Given the description of an element on the screen output the (x, y) to click on. 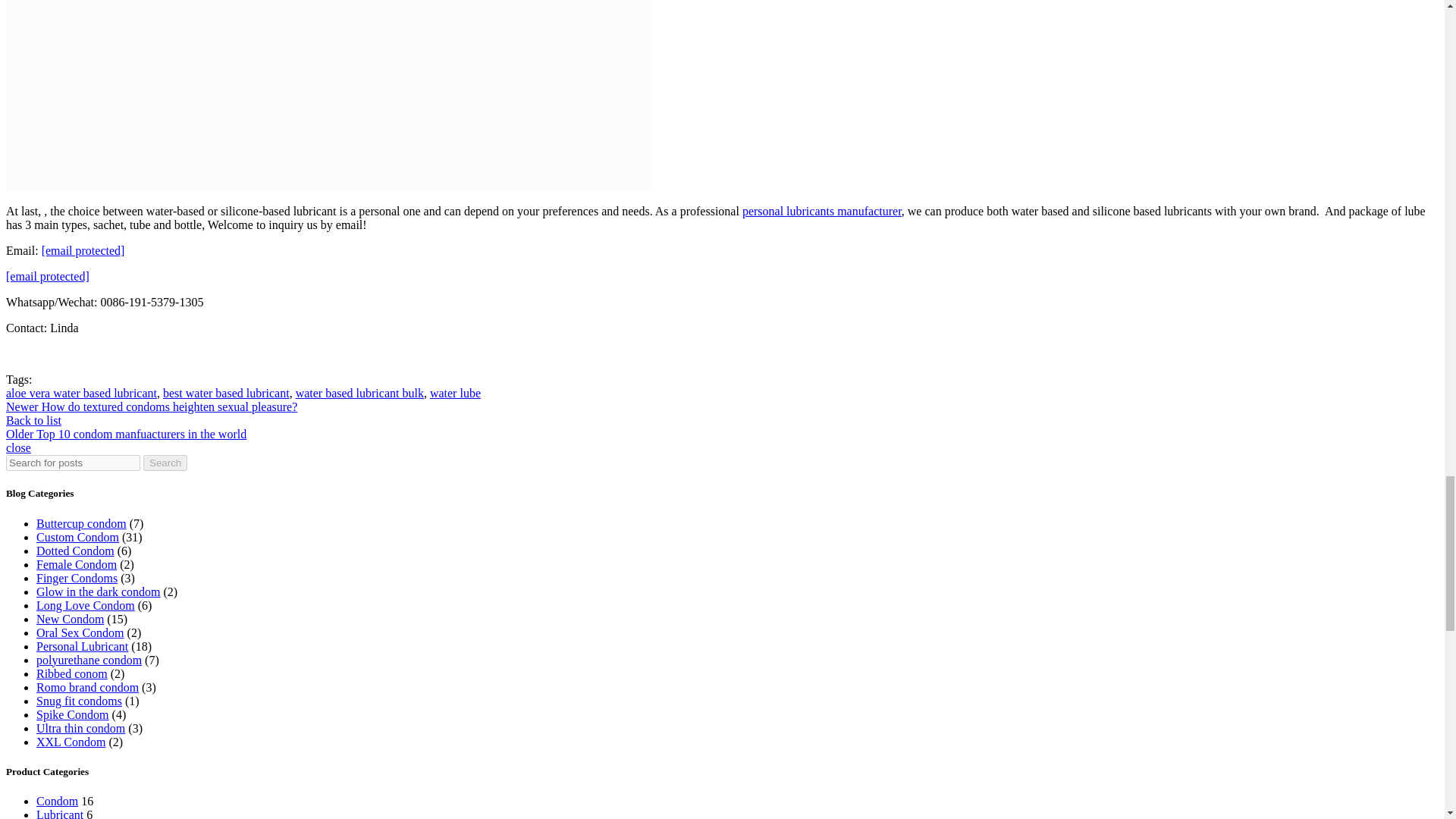
Search for posts (72, 462)
